Given the description of an element on the screen output the (x, y) to click on. 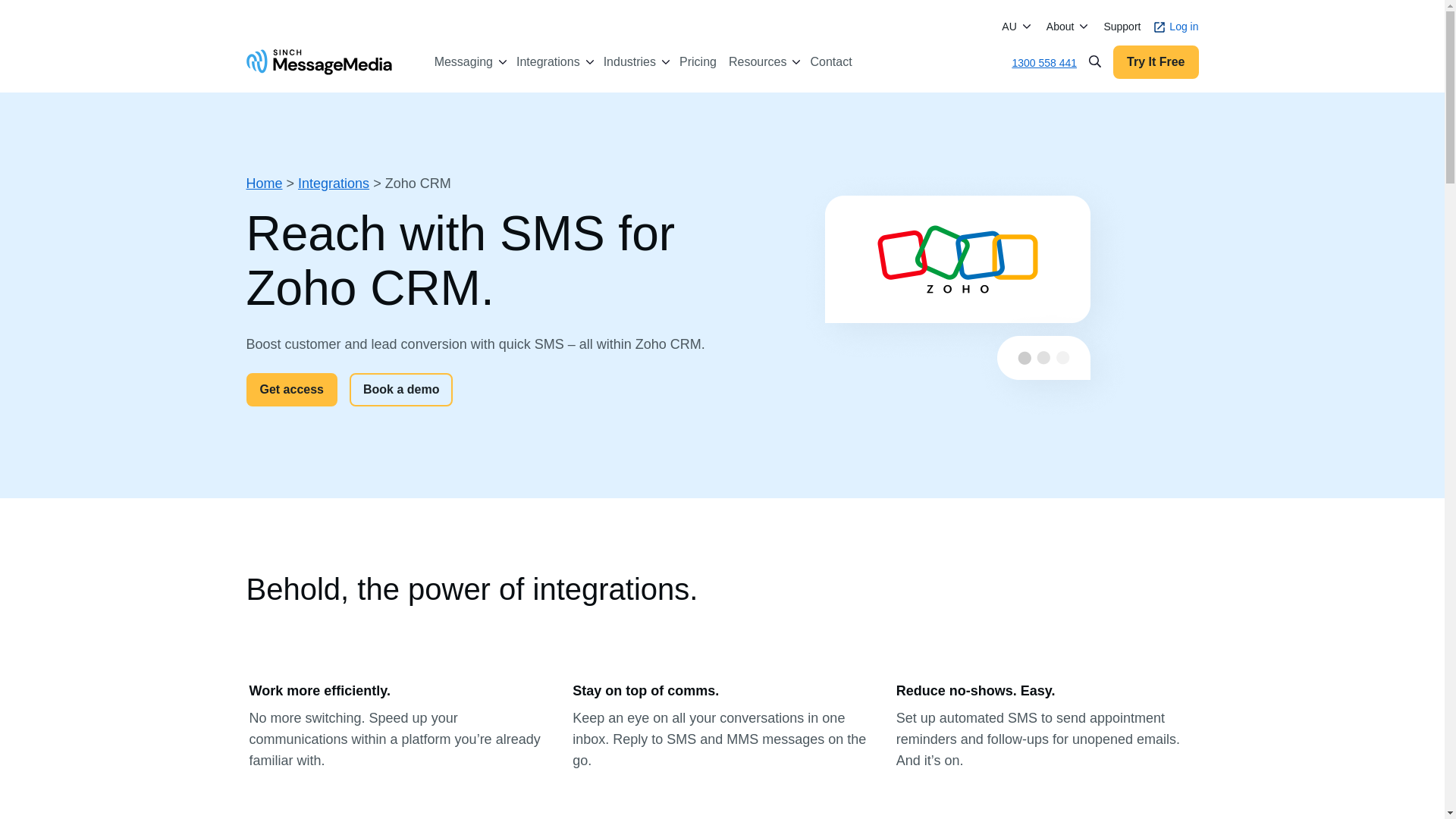
Support (1121, 26)
Integrations (548, 62)
Get access (291, 389)
Book a demo (400, 389)
AU (1008, 26)
Log in (1175, 26)
About (1060, 26)
Messaging (463, 62)
